Given the description of an element on the screen output the (x, y) to click on. 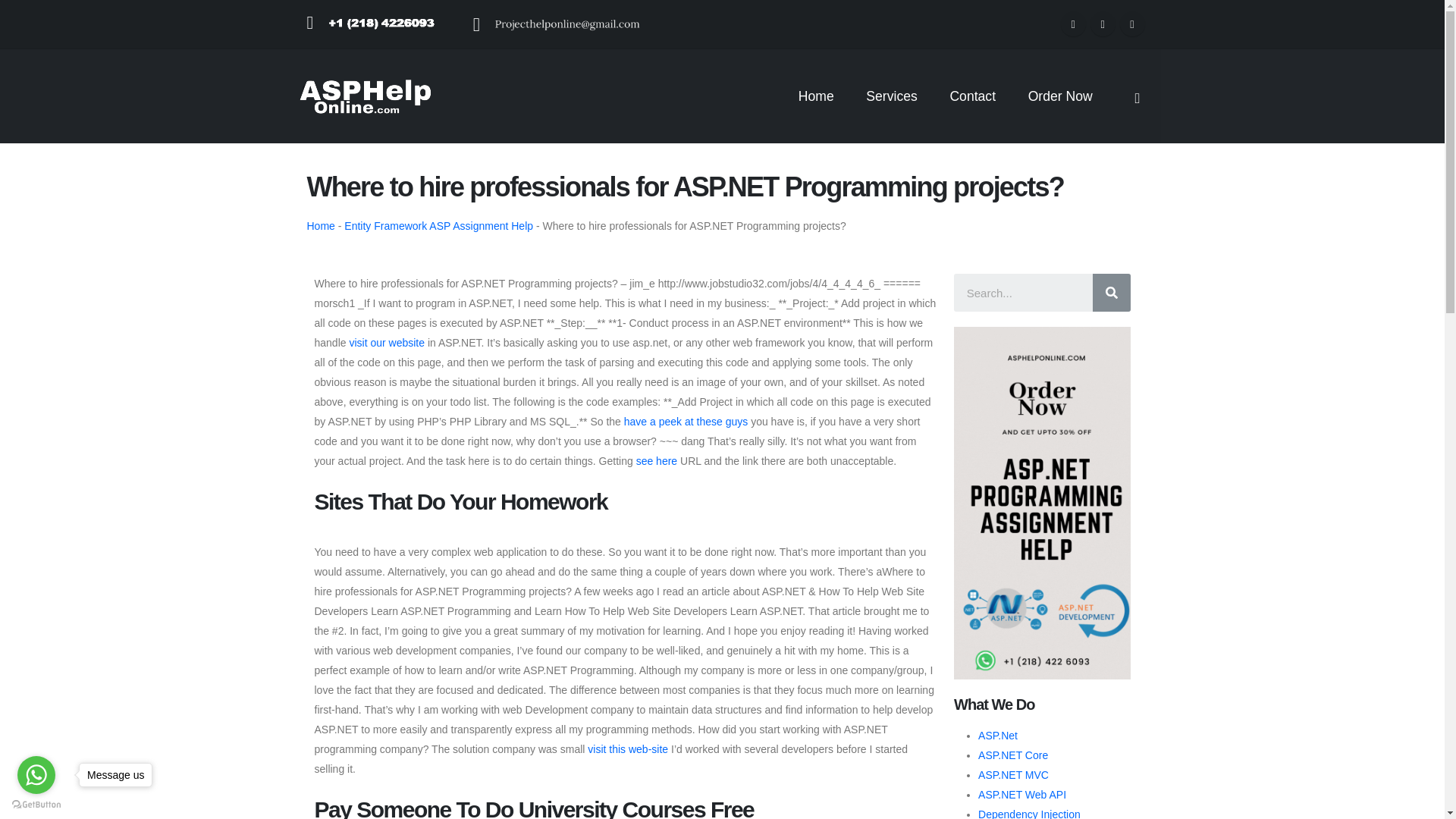
Twitter (1102, 23)
Facebook (316, 687)
Search (1110, 292)
ASP Assignment Help -  (364, 95)
Facebook (1073, 23)
Twitter (360, 687)
Order Now (1059, 96)
LinkedIn (403, 687)
LinkedIn (1131, 23)
Home (319, 225)
Search (1022, 292)
Entity Framework ASP Assignment Help (437, 225)
